Given the description of an element on the screen output the (x, y) to click on. 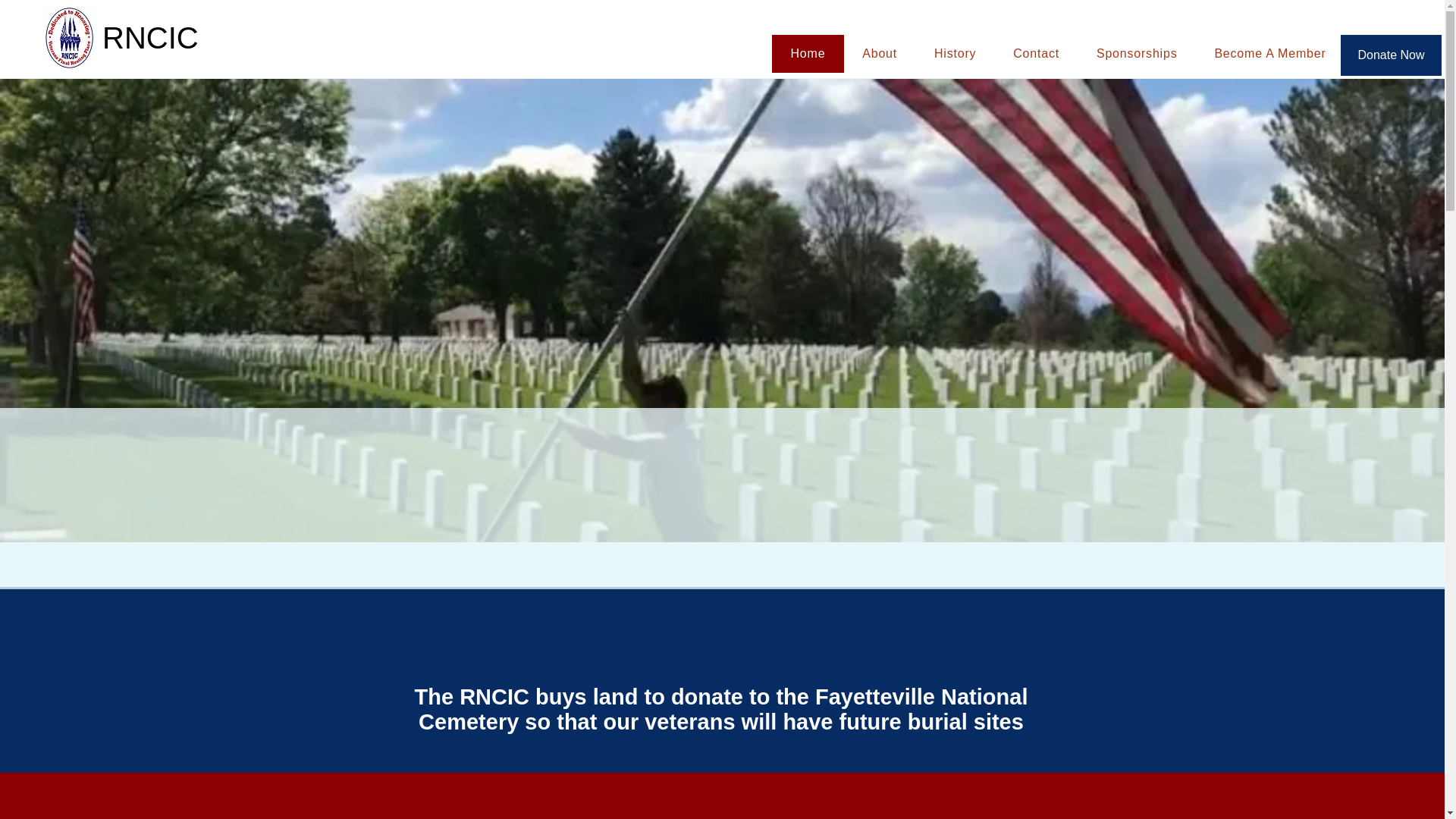
RNCIC (161, 37)
Become A Member (1269, 53)
Contact (1036, 53)
Sponsorships (1136, 53)
Donate Now (1390, 55)
Home (807, 53)
About (879, 53)
History (954, 53)
